Given the description of an element on the screen output the (x, y) to click on. 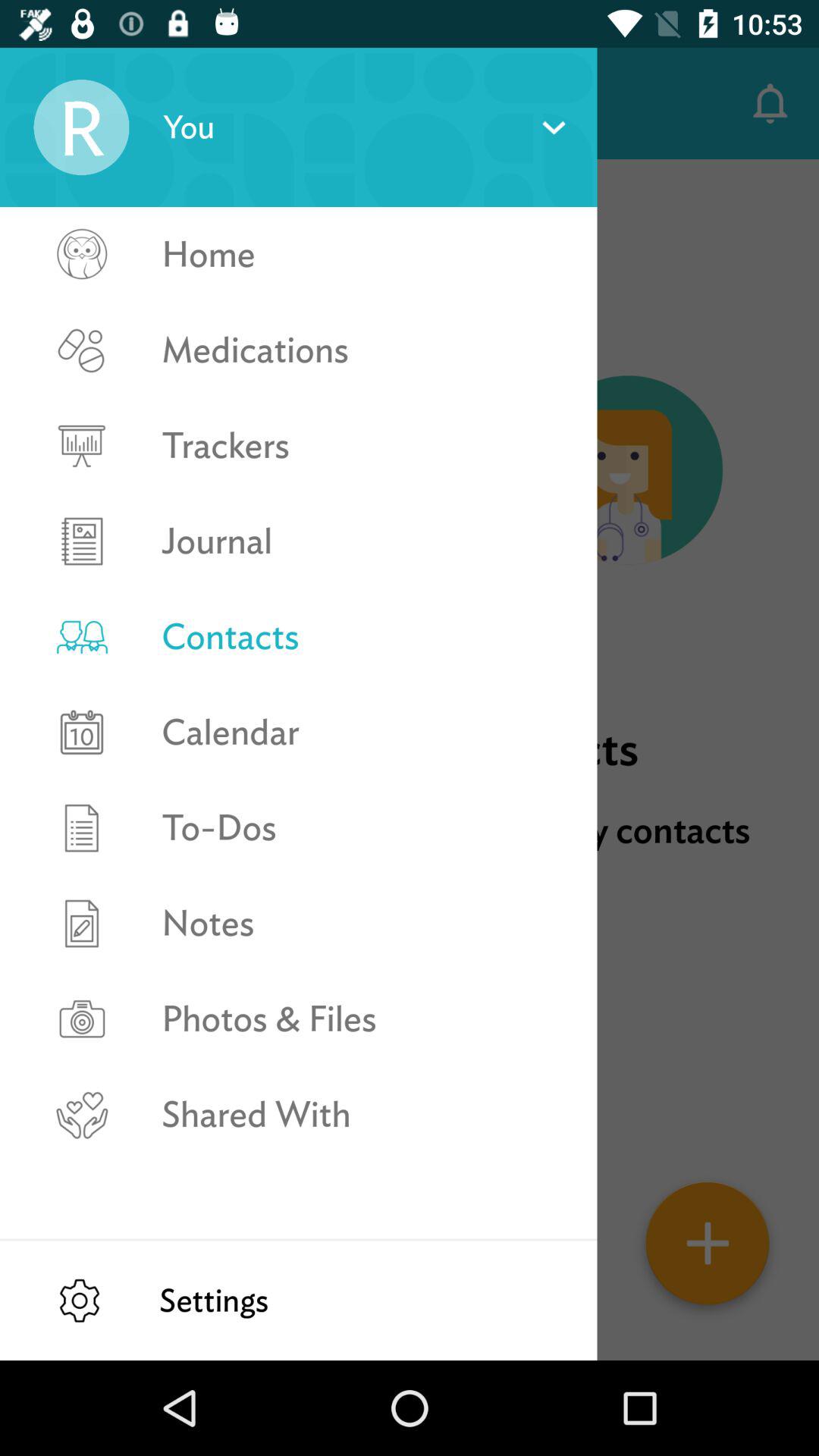
choose icon above to-dos (363, 731)
